Given the description of an element on the screen output the (x, y) to click on. 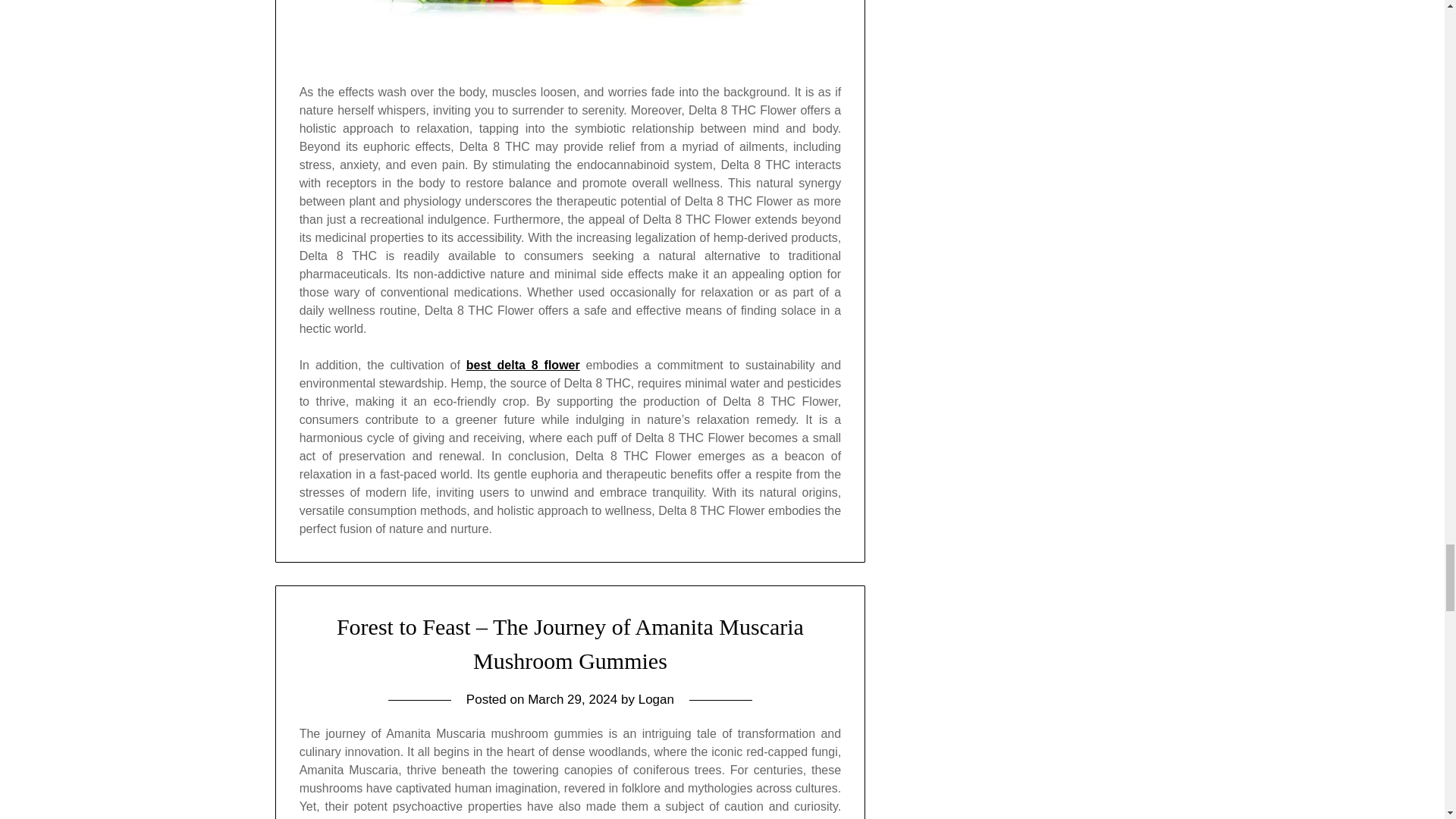
March 29, 2024 (572, 699)
best delta 8 flower (522, 364)
Logan (656, 699)
